Given the description of an element on the screen output the (x, y) to click on. 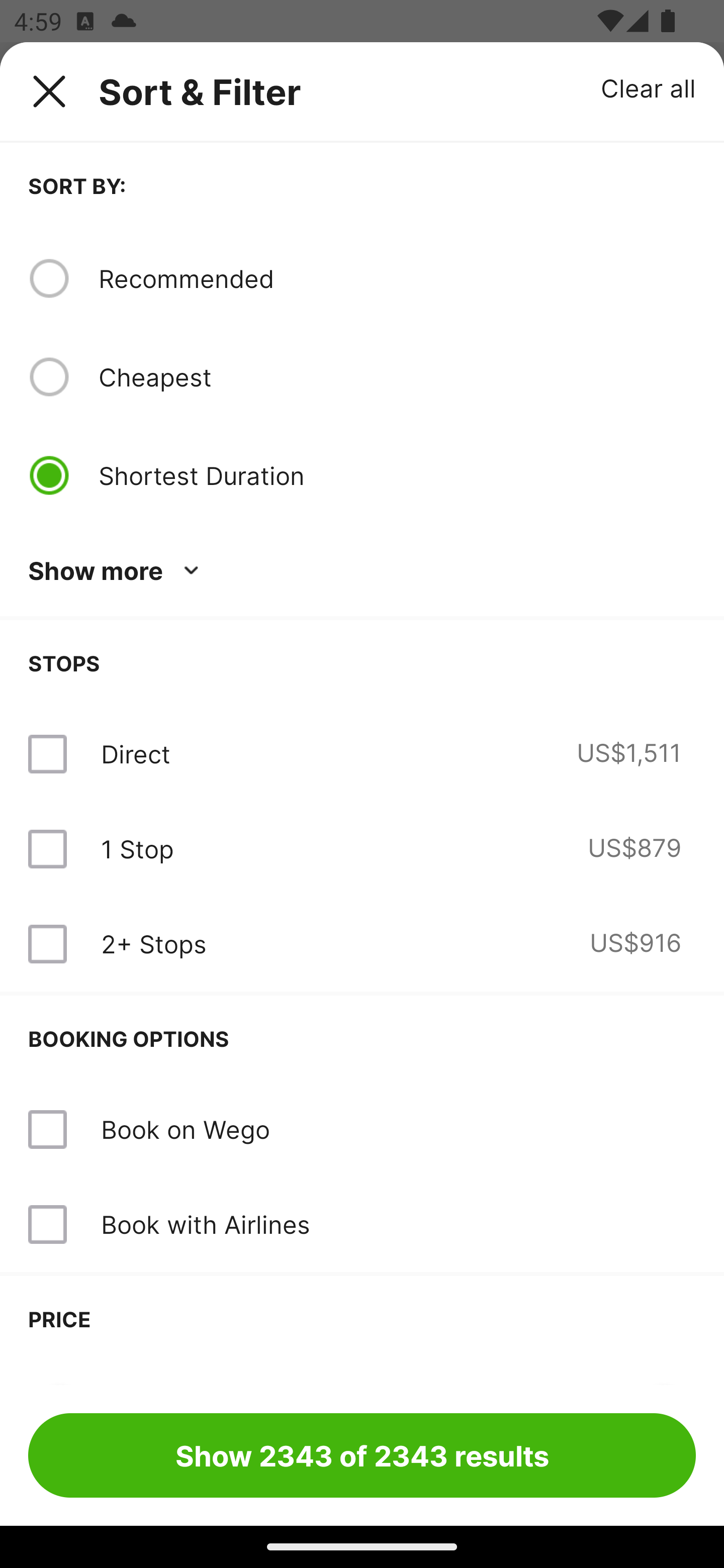
Clear all (648, 87)
Recommended  (396, 278)
Cheapest (396, 377)
Shortest Duration (396, 474)
Show more (116, 570)
Direct US$1,511 (362, 754)
Direct (135, 753)
1 Stop US$879 (362, 848)
1 Stop (136, 849)
2+ Stops US$916 (362, 943)
2+ Stops (153, 943)
Book on Wego (362, 1129)
Book on Wego (184, 1128)
Book with Airlines (362, 1224)
Book with Airlines (204, 1224)
Show 2343 of 2343 results (361, 1454)
